Given the description of an element on the screen output the (x, y) to click on. 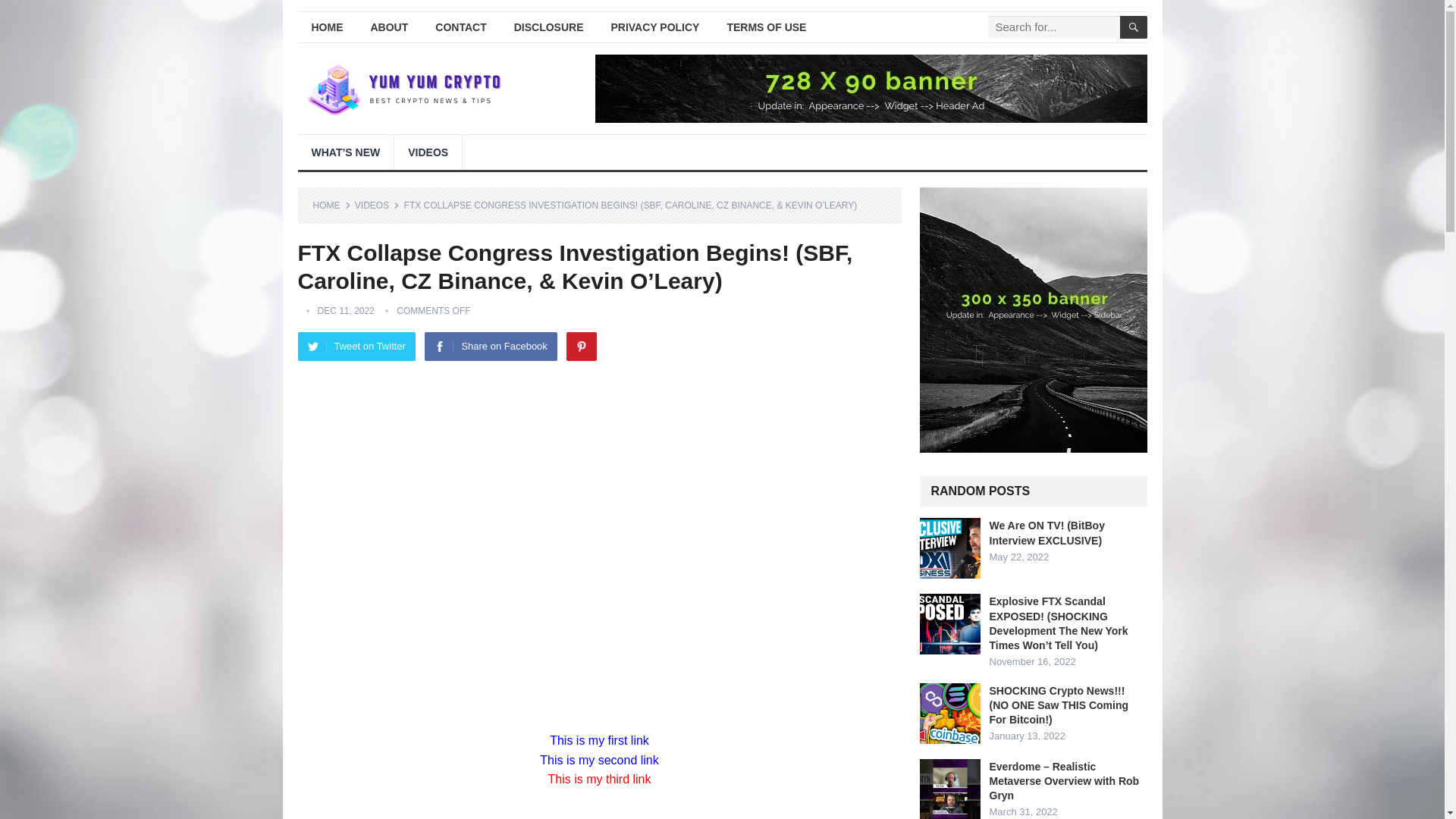
VIDEOS (376, 204)
VIDEOS (427, 152)
PRIVACY POLICY (654, 27)
Everdome - Realistic Metaverse Overview with Rob Gryn 16 (948, 789)
DISCLOSURE (548, 27)
CONTACT (460, 27)
ABOUT (389, 27)
TERMS OF USE (766, 27)
This is my third link (598, 779)
Share on Facebook (490, 346)
HOME (326, 27)
Tweet on Twitter (355, 346)
View all posts in Videos (376, 204)
This is my second link (599, 759)
Pinterest (581, 346)
